Given the description of an element on the screen output the (x, y) to click on. 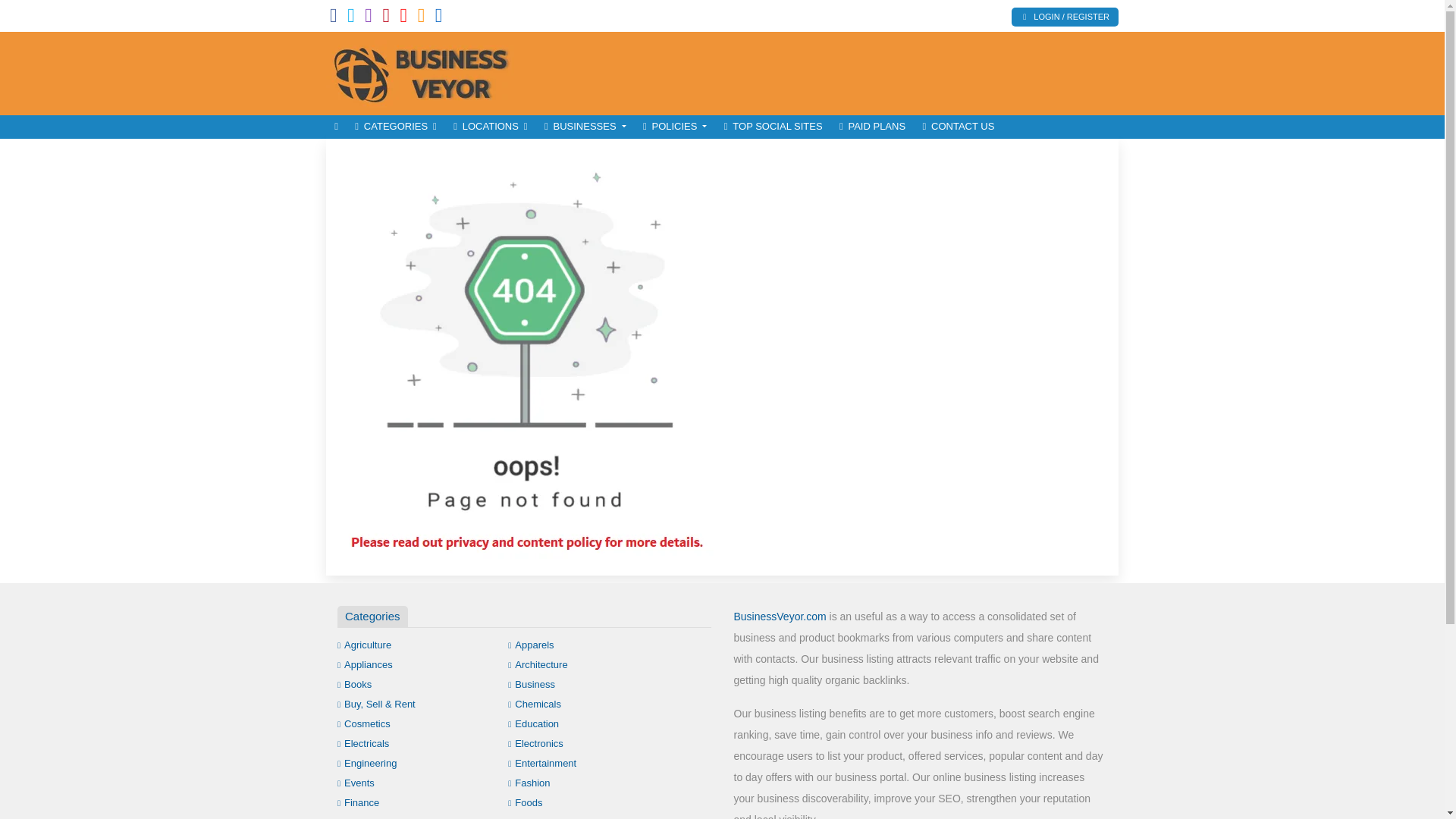
LOCATIONS (490, 126)
Transform Online Communities to Business Lead Generation (428, 71)
CATEGORIES (395, 126)
